Given the description of an element on the screen output the (x, y) to click on. 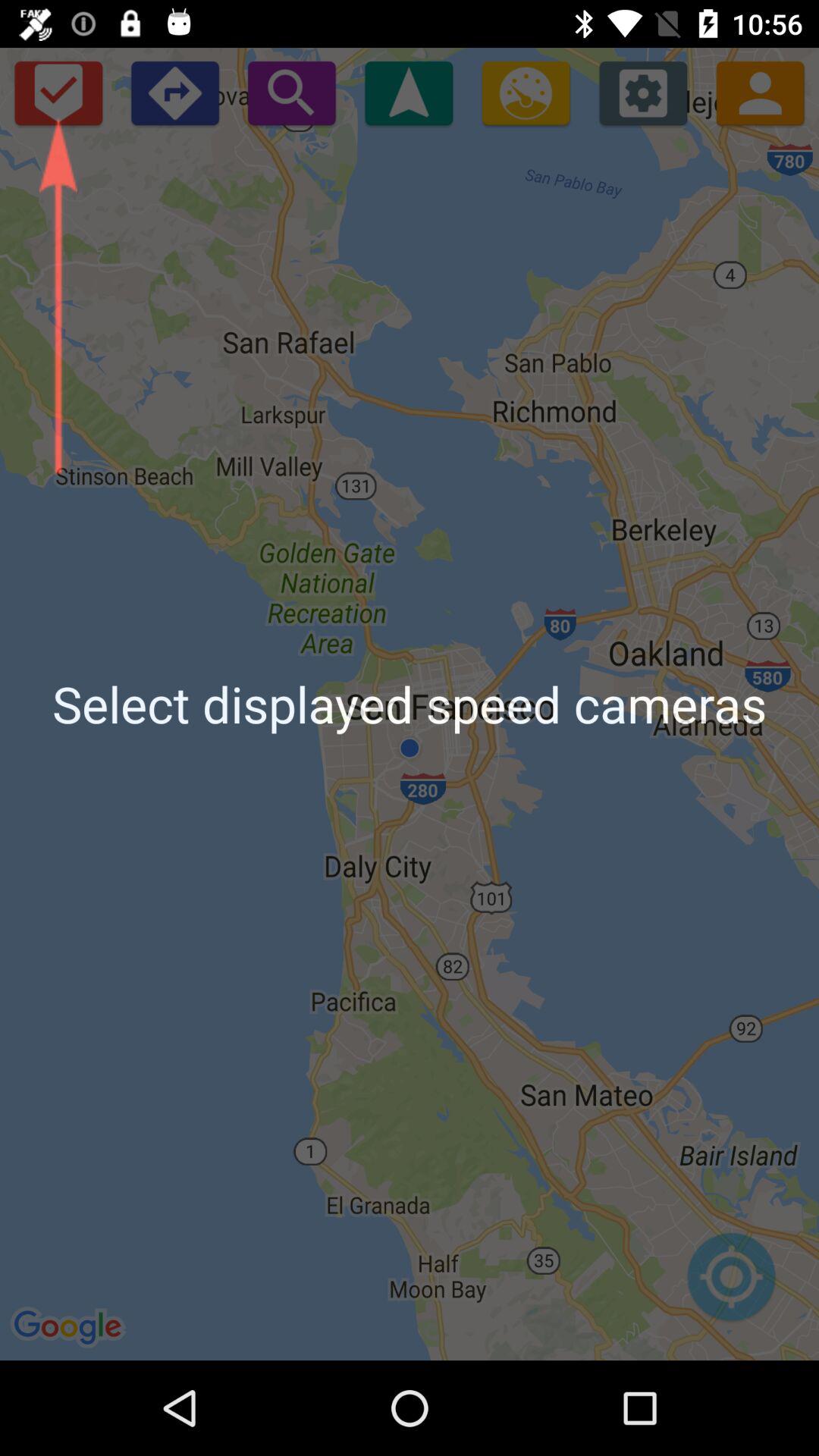
view people (760, 92)
